Given the description of an element on the screen output the (x, y) to click on. 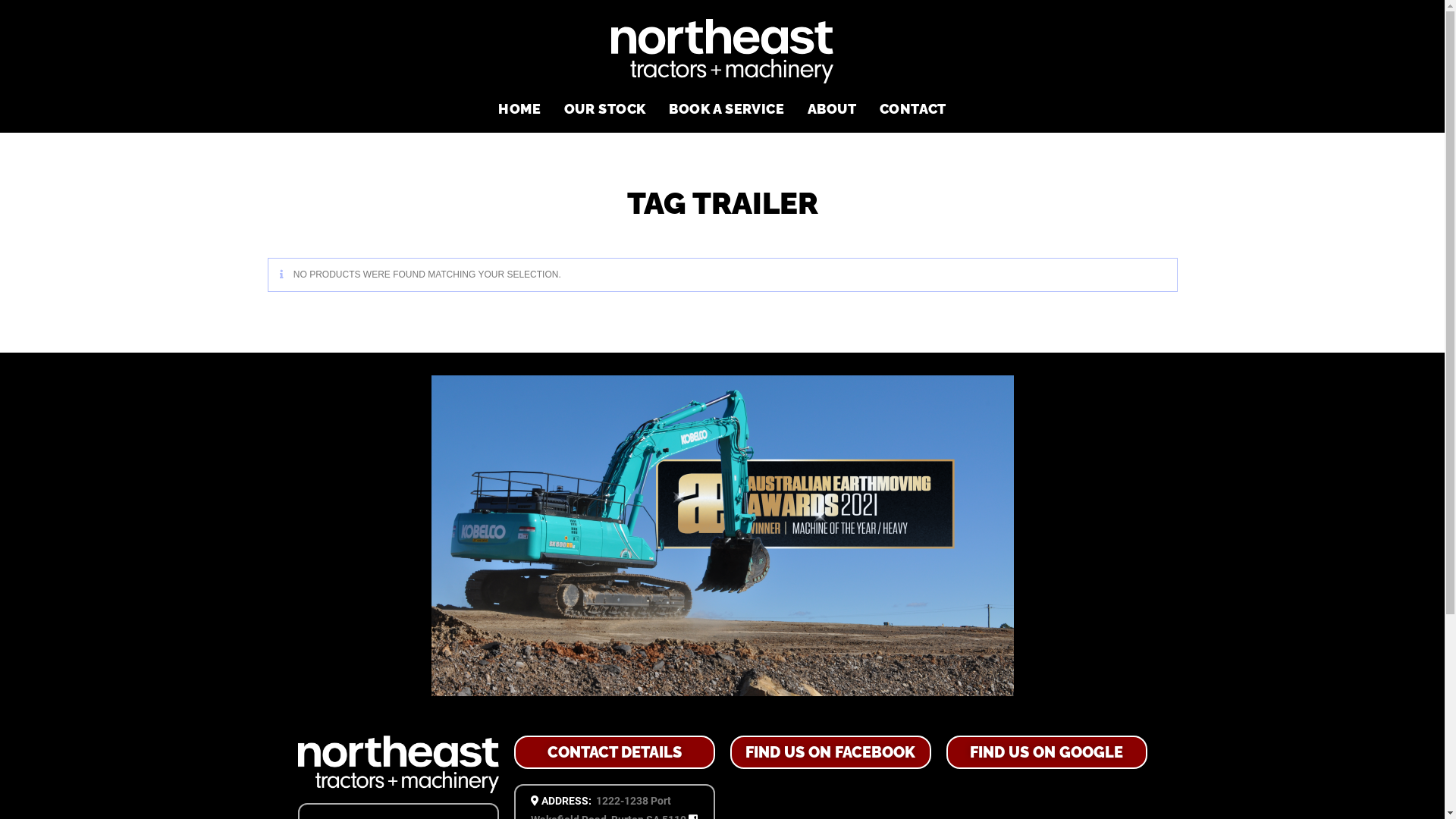
FIND US ON GOOGLE Element type: text (1046, 752)
OUR STOCK Element type: text (604, 108)
HOME Element type: text (519, 108)
CONTACT Element type: text (912, 108)
BOOK A SERVICE Element type: text (726, 108)
ABOUT Element type: text (832, 108)
CONTACT DETAILS Element type: text (614, 752)
FIND US ON FACEBOOK Element type: text (830, 752)
